Given the description of an element on the screen output the (x, y) to click on. 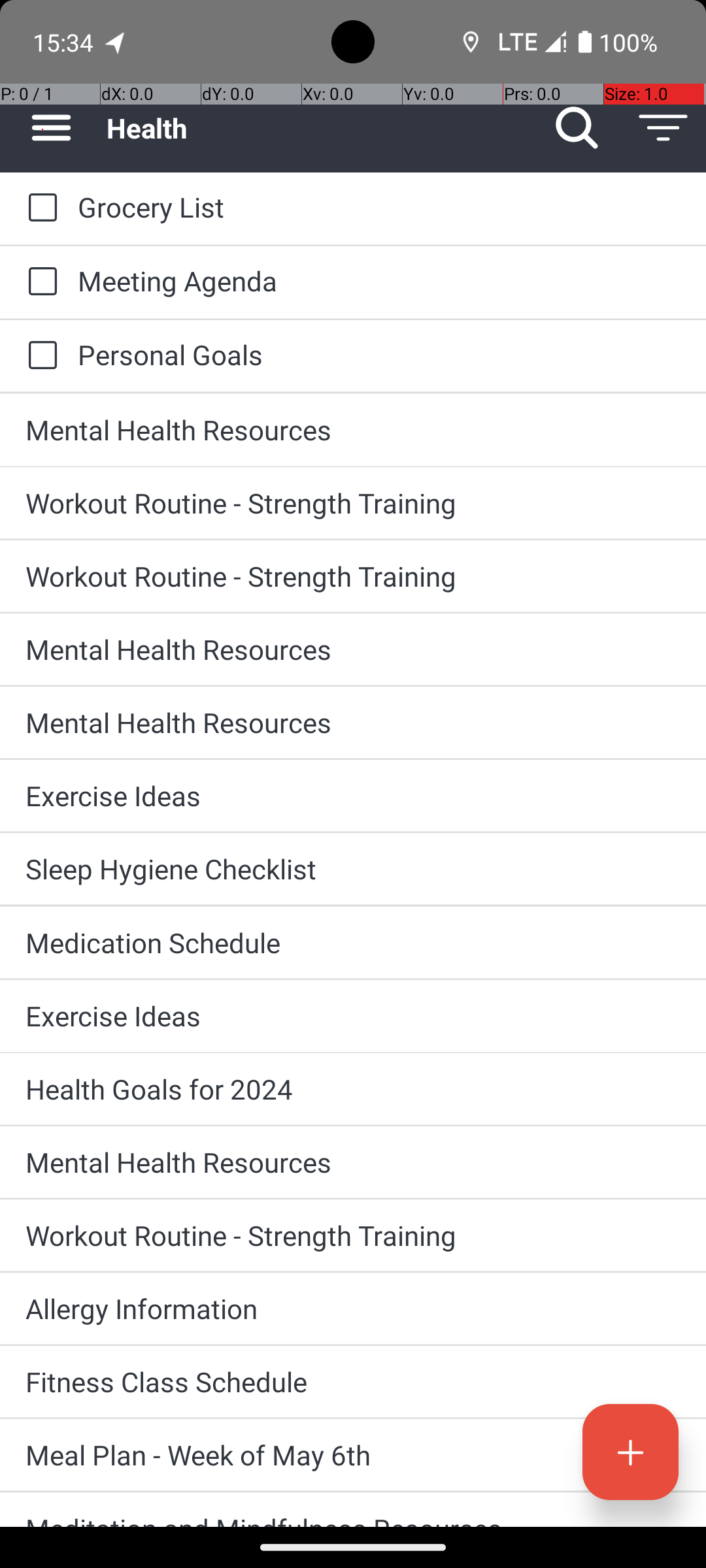
to-do: Grocery List Element type: android.widget.CheckBox (38, 208)
Grocery List Element type: android.widget.TextView (378, 206)
to-do: Meeting Agenda Element type: android.widget.CheckBox (38, 282)
Meeting Agenda Element type: android.widget.TextView (378, 280)
to-do: Personal Goals Element type: android.widget.CheckBox (38, 356)
Personal Goals Element type: android.widget.TextView (378, 354)
Mental Health Resources Element type: android.widget.TextView (352, 429)
Workout Routine - Strength Training Element type: android.widget.TextView (352, 502)
Exercise Ideas Element type: android.widget.TextView (352, 795)
Sleep Hygiene Checklist Element type: android.widget.TextView (352, 868)
Medication Schedule Element type: android.widget.TextView (352, 942)
Health Goals for 2024 Element type: android.widget.TextView (352, 1088)
Allergy Information Element type: android.widget.TextView (352, 1307)
Fitness Class Schedule Element type: android.widget.TextView (352, 1381)
Meal Plan - Week of May 6th Element type: android.widget.TextView (352, 1454)
Meditation and Mindfulness Resources Element type: android.widget.TextView (352, 1517)
